Given the description of an element on the screen output the (x, y) to click on. 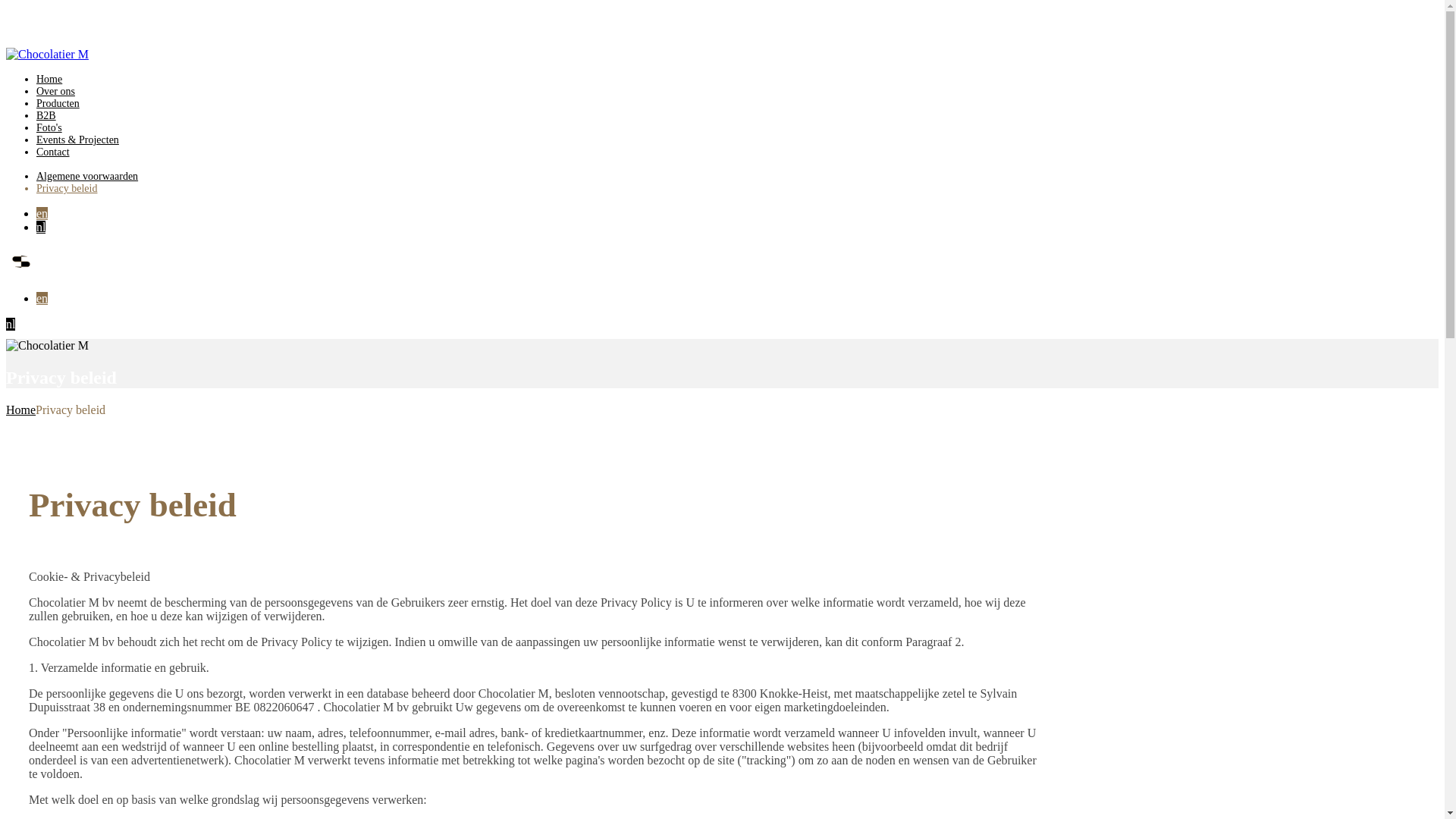
Foto's Element type: text (49, 127)
nl Element type: text (40, 226)
Home Element type: text (20, 409)
Contact Element type: text (52, 151)
Over ons Element type: text (55, 91)
Privacy beleid Element type: text (66, 188)
Events & Projecten Element type: text (77, 139)
en Element type: text (41, 213)
Producten Element type: text (57, 103)
en Element type: text (41, 297)
Home Element type: text (49, 78)
B2B Element type: text (46, 115)
Algemene voorwaarden Element type: text (87, 176)
